Given the description of an element on the screen output the (x, y) to click on. 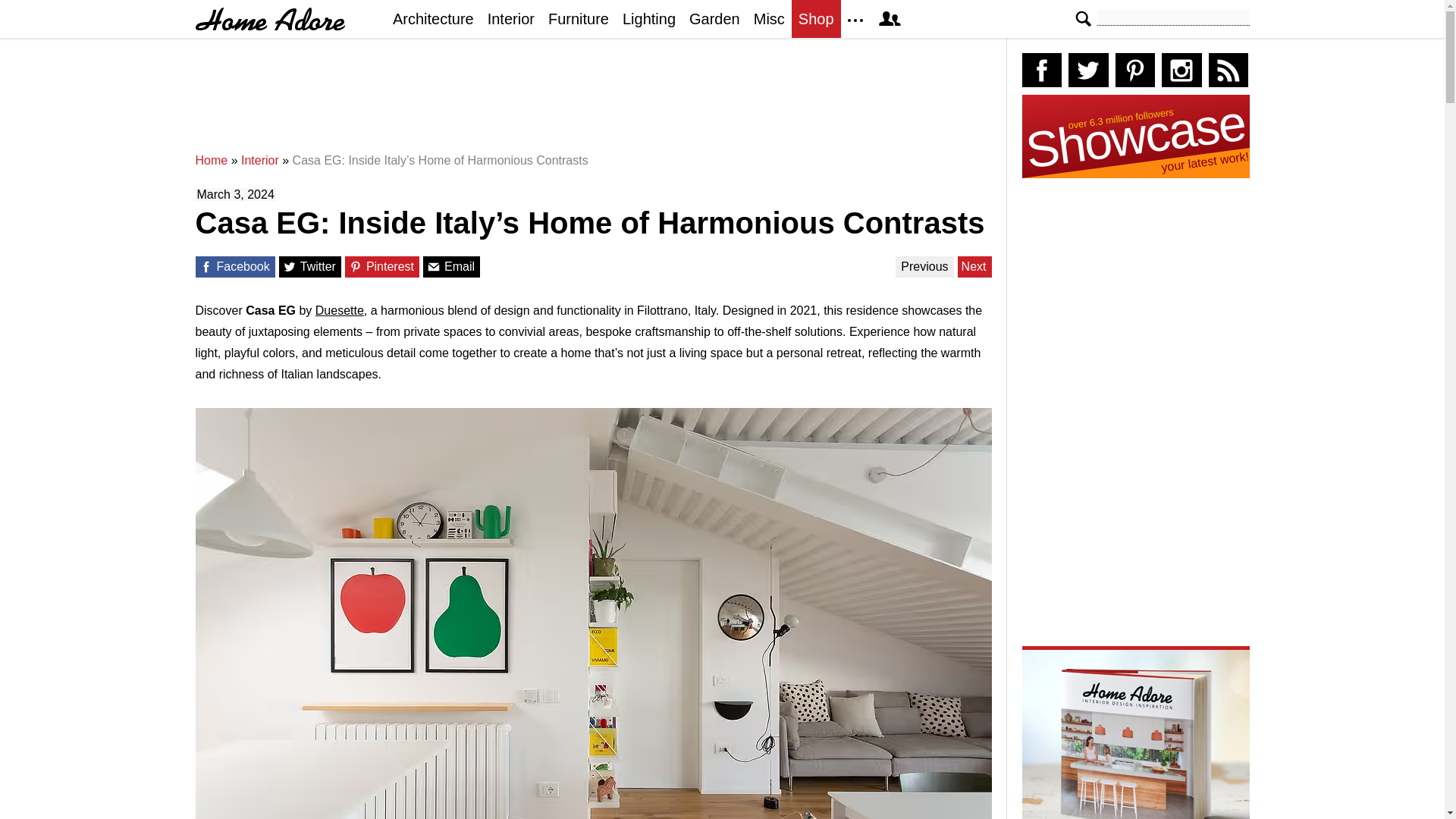
Interior (510, 18)
Misc (769, 18)
Interior (260, 160)
Member Area (889, 17)
Shop (816, 18)
HomeAdore (270, 19)
Advertisement (596, 101)
Share on Pinterest (355, 266)
Lighting (648, 18)
HomeAdore (270, 19)
